Given the description of an element on the screen output the (x, y) to click on. 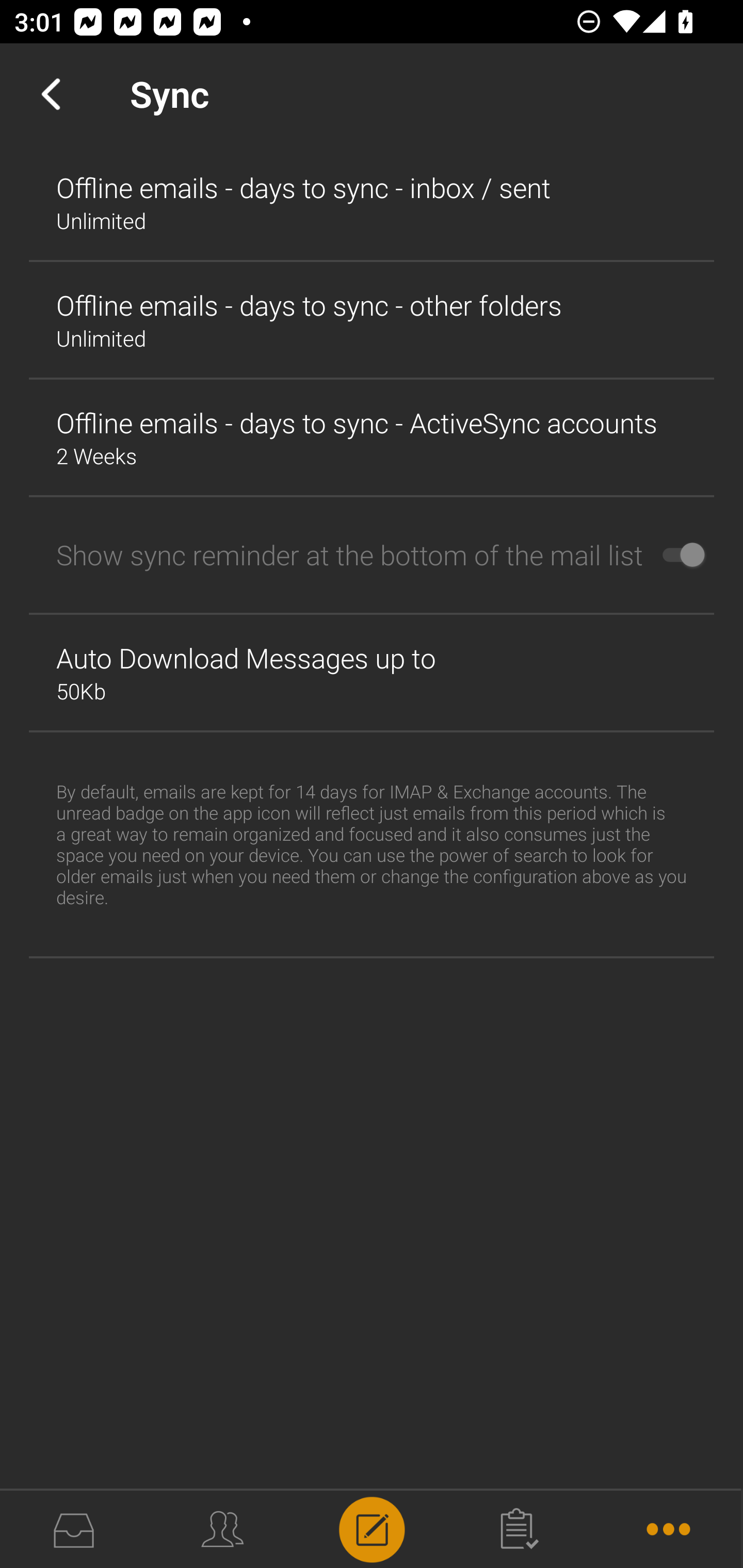
Navigate up (50, 93)
Show sync reminder at the bottom of the mail list (371, 555)
Auto Download Messages up to 50Kb (371, 672)
